Given the description of an element on the screen output the (x, y) to click on. 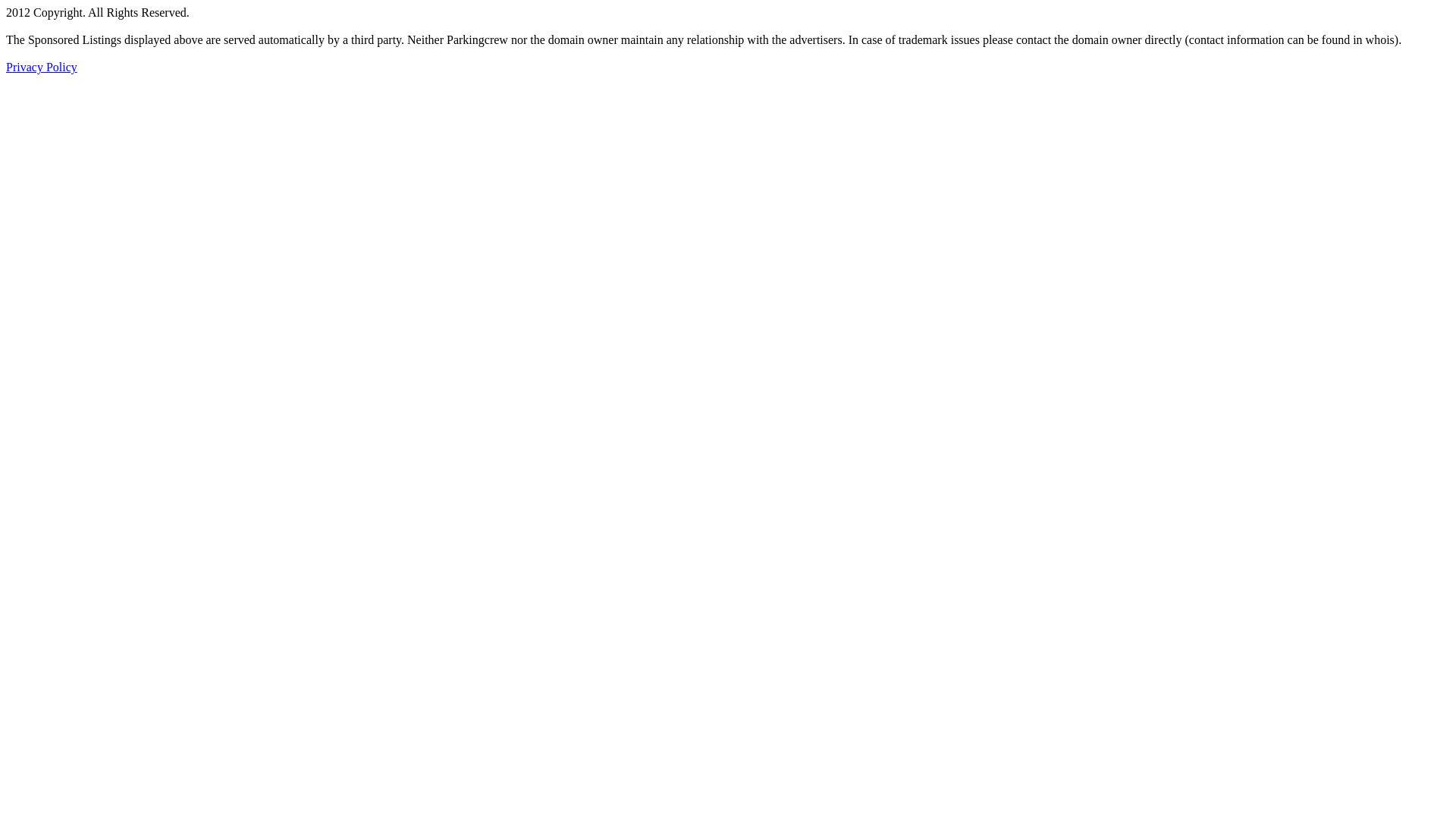
Privacy Policy Element type: text (41, 66)
